Given the description of an element on the screen output the (x, y) to click on. 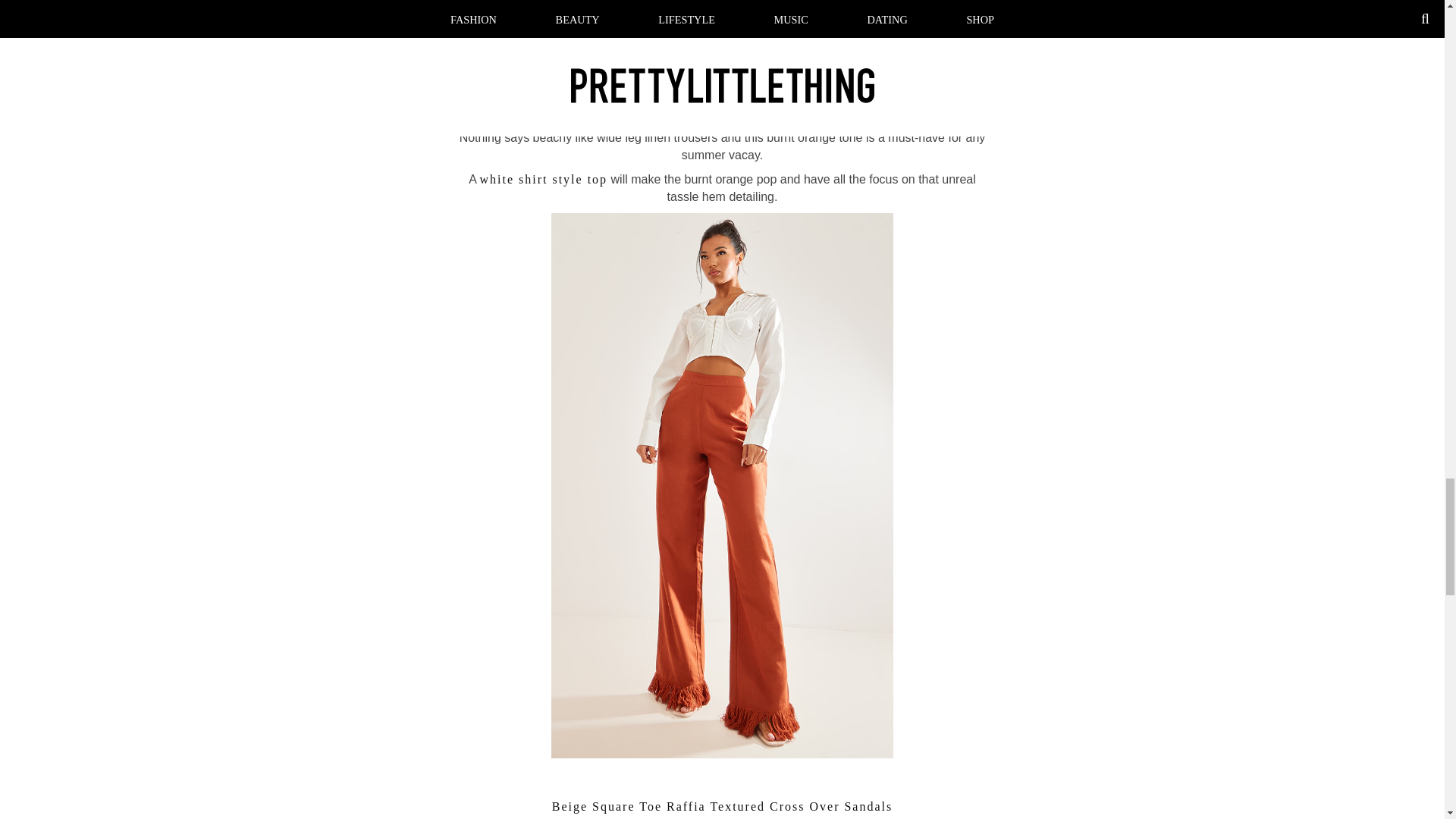
Beige Square Toe Raffia Textured Cross Over Sandals (721, 806)
white shirt style top (543, 179)
Burnt Orange Linen Look Tassle Hem Wide Leg Trousers (721, 89)
